Given the description of an element on the screen output the (x, y) to click on. 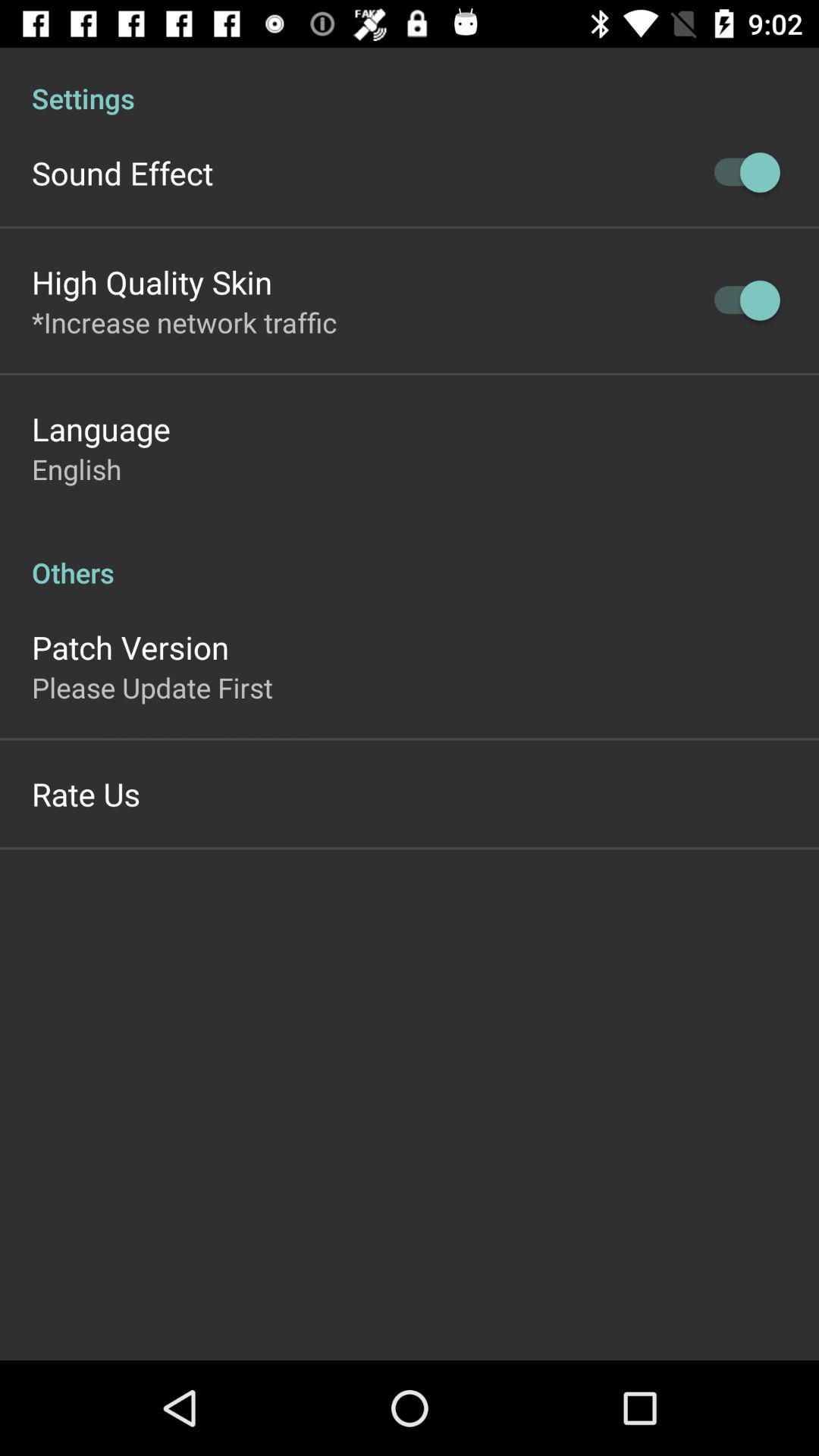
launch settings icon (409, 82)
